Given the description of an element on the screen output the (x, y) to click on. 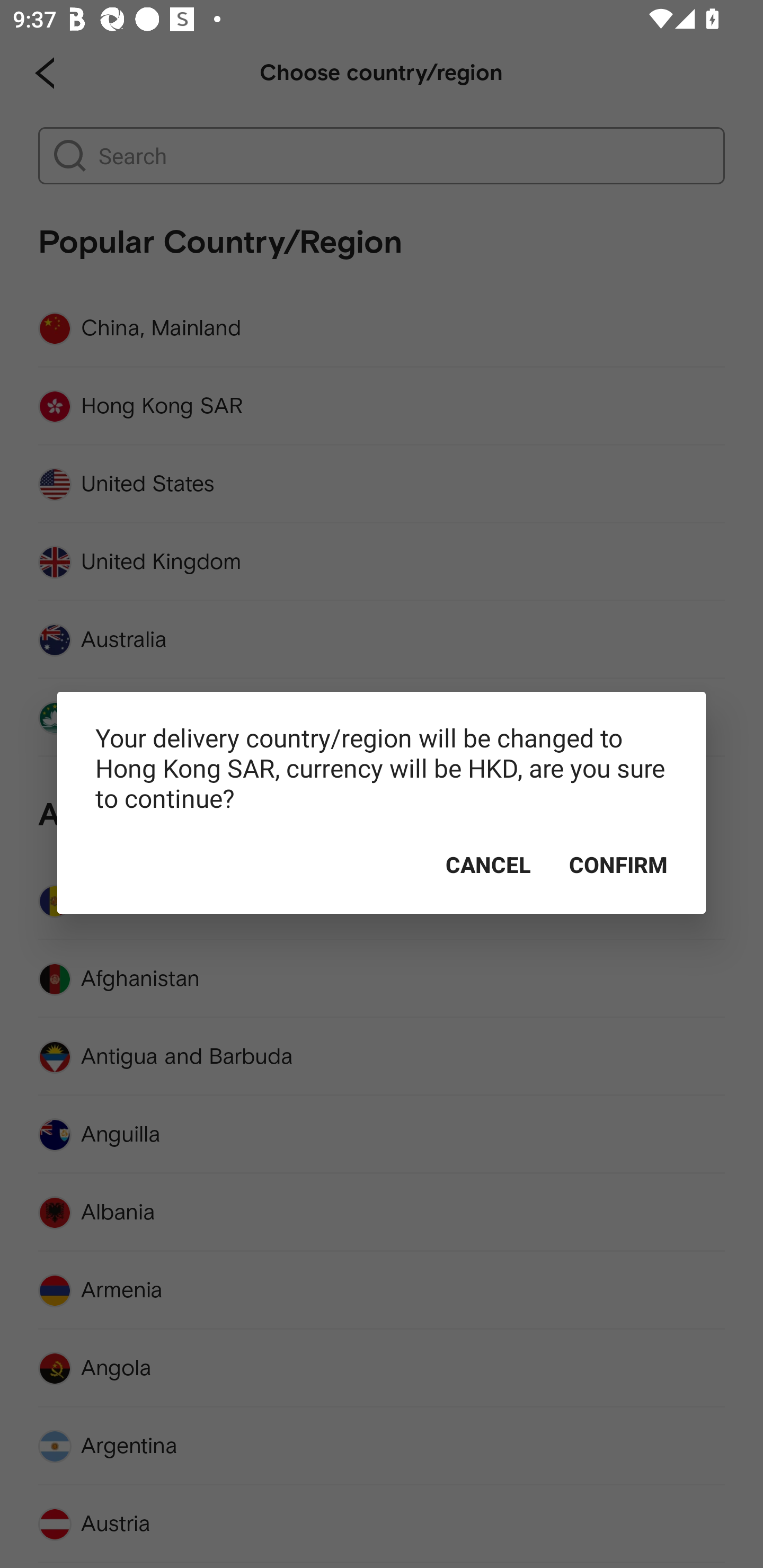
CANCEL (488, 864)
CONFIRM (618, 864)
